Given the description of an element on the screen output the (x, y) to click on. 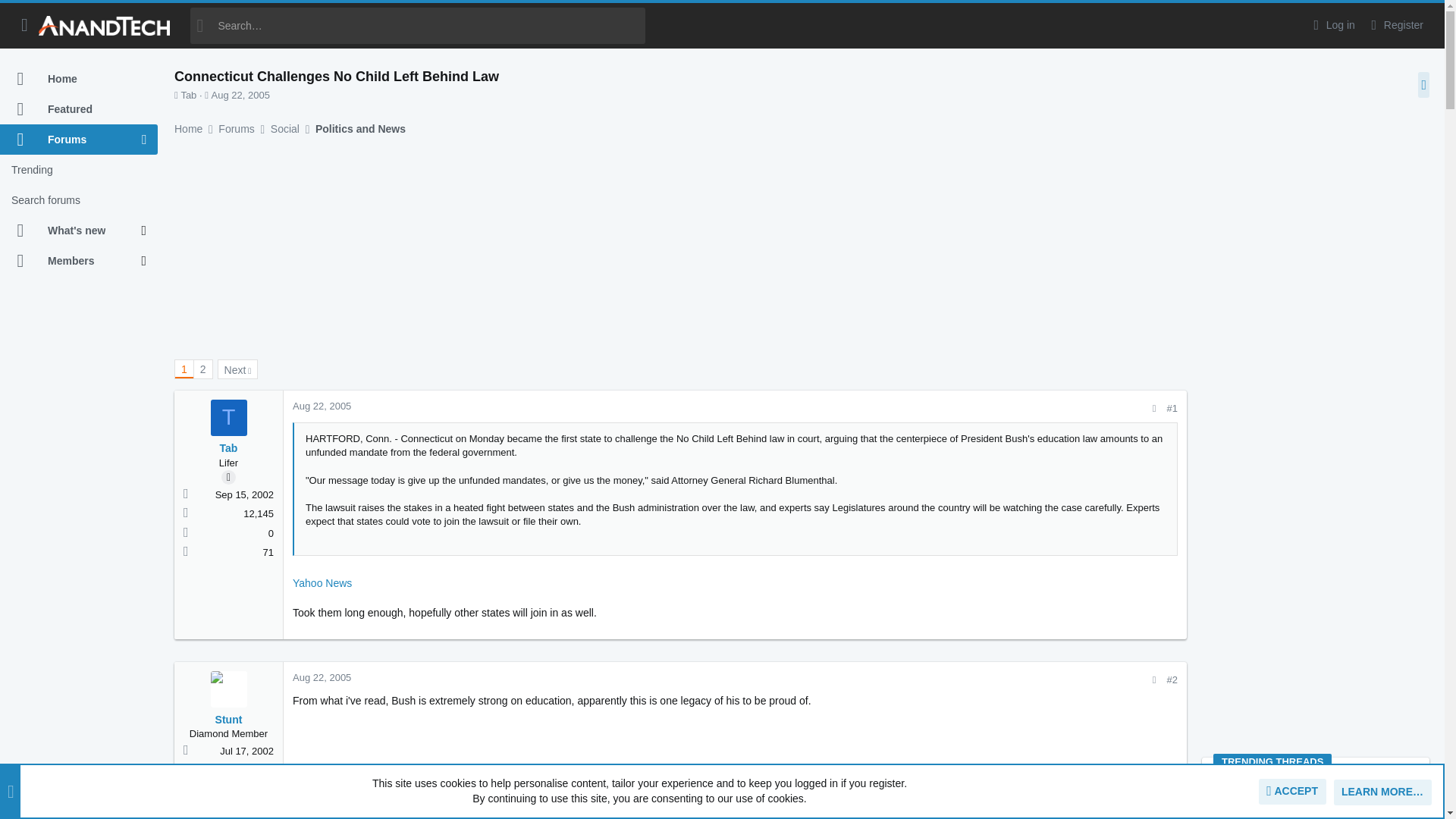
Forums (70, 139)
Register (1395, 24)
Aug 22, 2005 at 6:43 PM (240, 94)
Trending (78, 169)
Log in (1332, 24)
Home (78, 78)
Original poster (228, 477)
Featured (78, 109)
What's new (70, 230)
Search forums (78, 200)
